Given the description of an element on the screen output the (x, y) to click on. 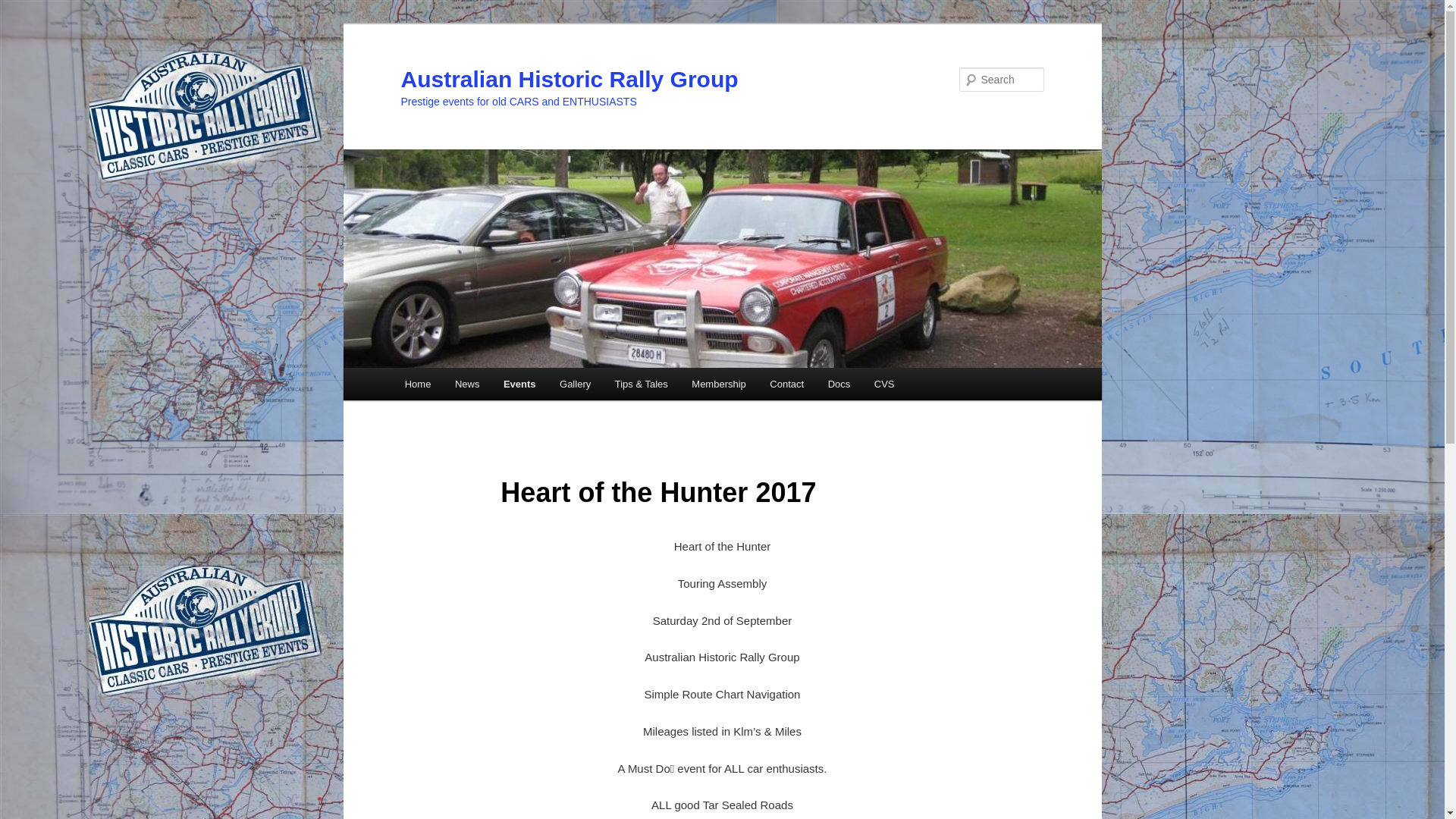
Tips & Tales Element type: text (641, 383)
Search Element type: text (24, 8)
Skip to primary content Element type: text (22, 22)
Australian Historic Rally Group Element type: text (568, 78)
CVS Element type: text (884, 383)
Membership Element type: text (719, 383)
Home Element type: text (417, 383)
Events Element type: text (519, 383)
Gallery Element type: text (574, 383)
News Element type: text (466, 383)
Docs Element type: text (838, 383)
Contact Element type: text (786, 383)
